Given the description of an element on the screen output the (x, y) to click on. 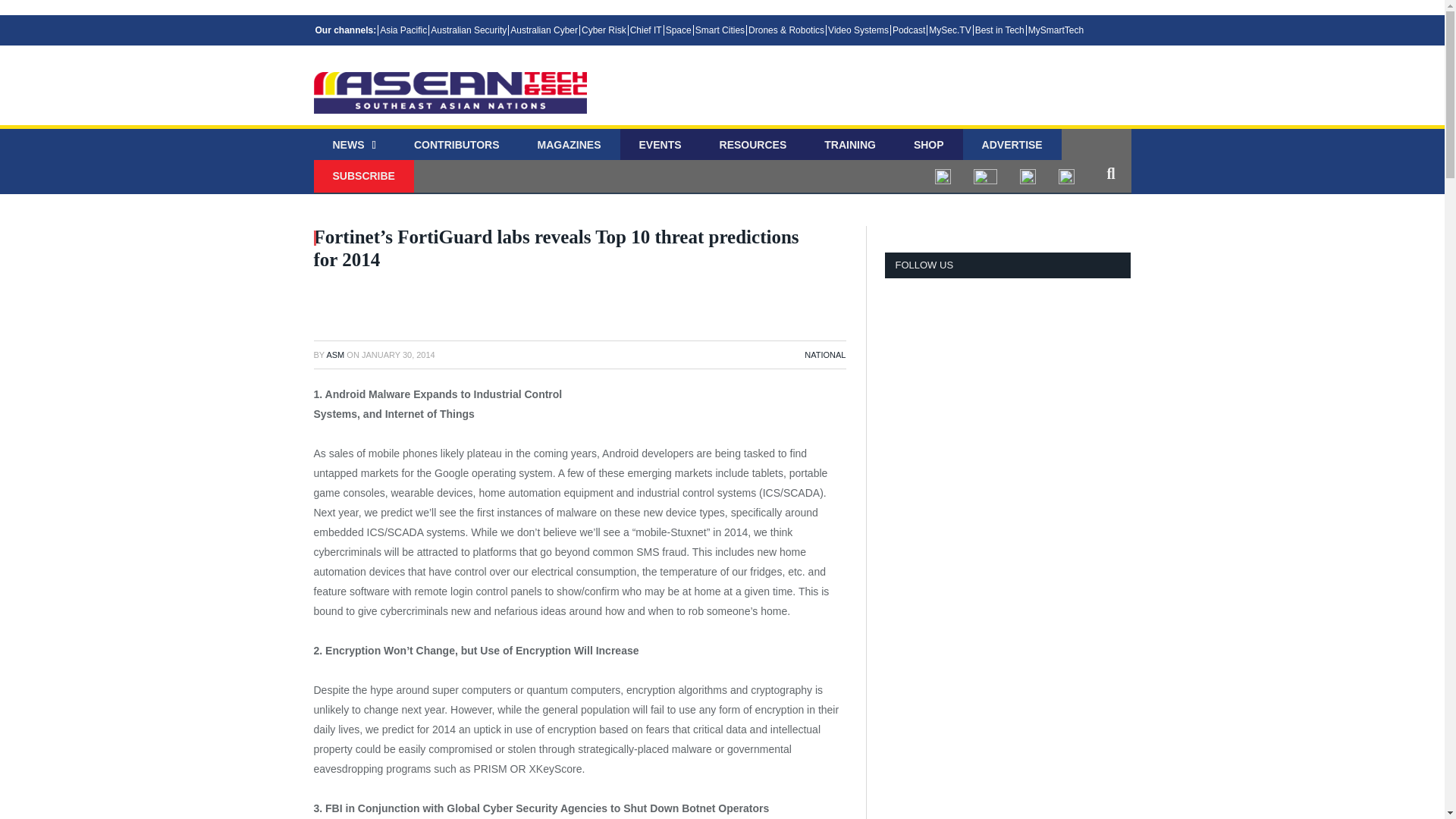
SUBSCRIBE (363, 175)
Australian Cyber (543, 30)
CONTRIBUTORS (456, 145)
Best in Tech (999, 30)
2014-01-30 (398, 354)
SHOP (928, 145)
Smart Cities (719, 30)
RESOURCES (753, 145)
MySec.TV (949, 30)
Space (678, 30)
